Given the description of an element on the screen output the (x, y) to click on. 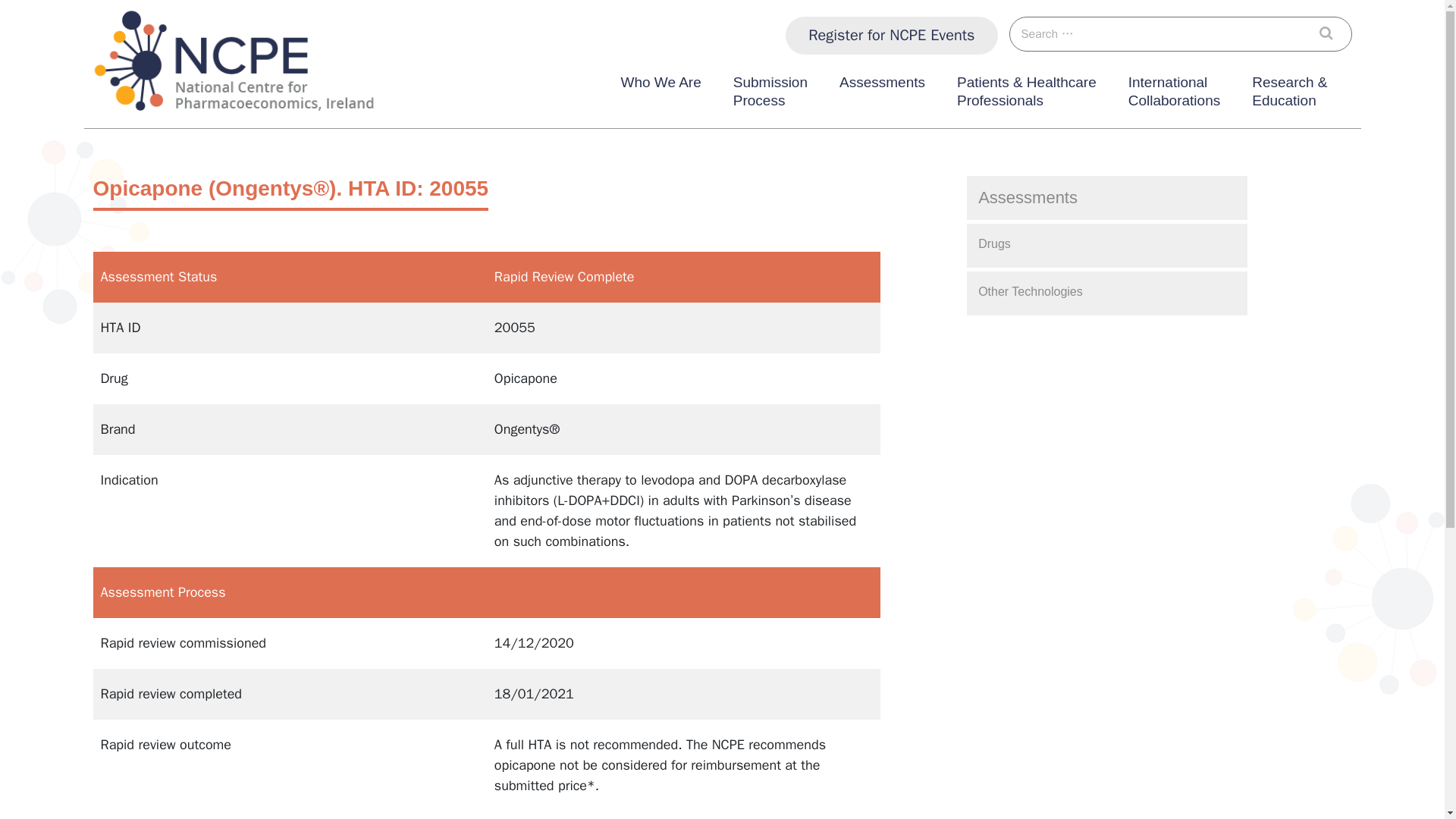
Who We Are (659, 94)
National Centre for Pharmacoeconomics (212, 126)
Register for NCPE Events (1174, 94)
Search (891, 35)
Search (1330, 33)
Assessments (1330, 33)
Search (770, 94)
